Given the description of an element on the screen output the (x, y) to click on. 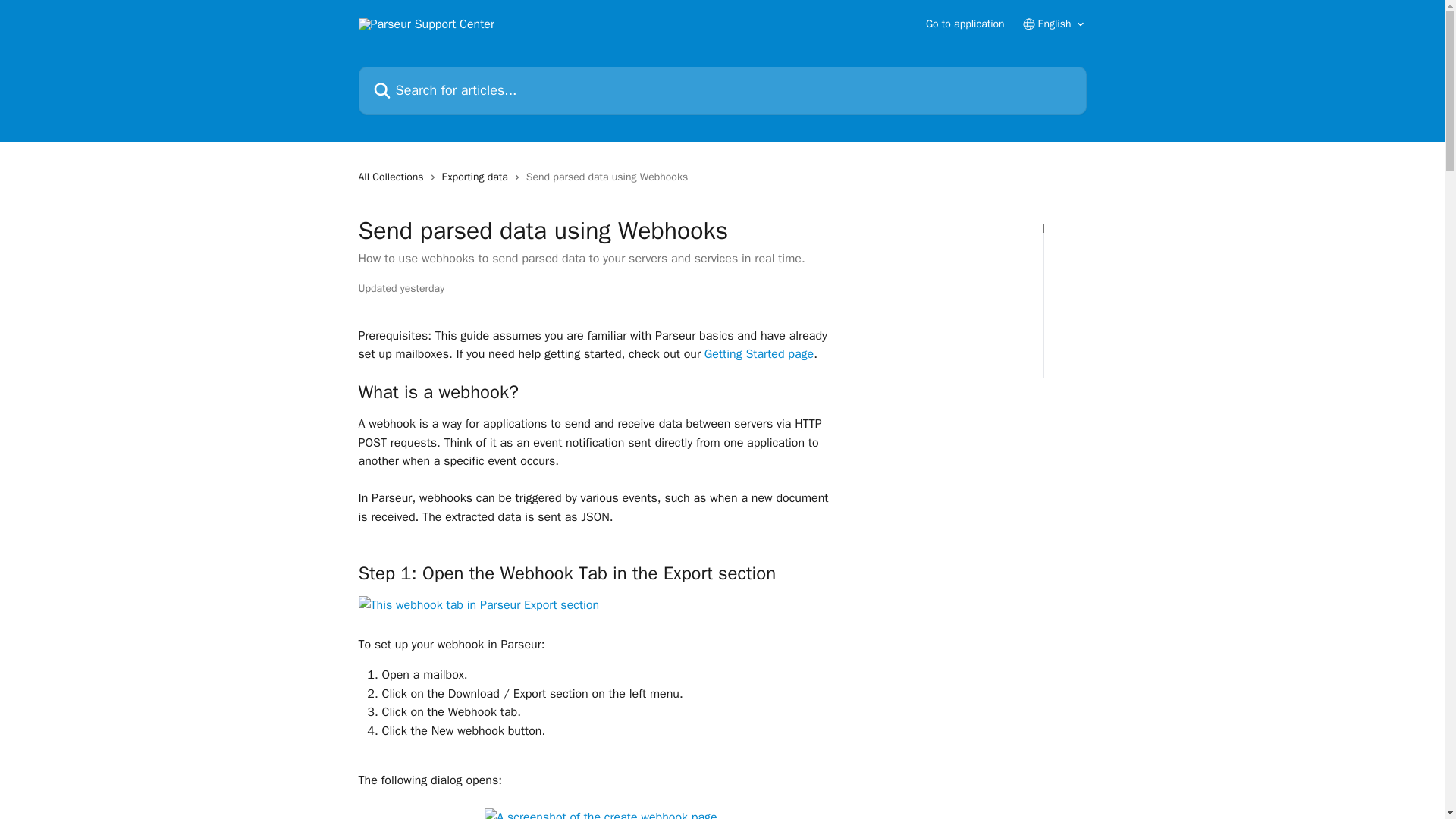
Go to application (965, 23)
All Collections (393, 176)
Exporting data (477, 176)
